Given the description of an element on the screen output the (x, y) to click on. 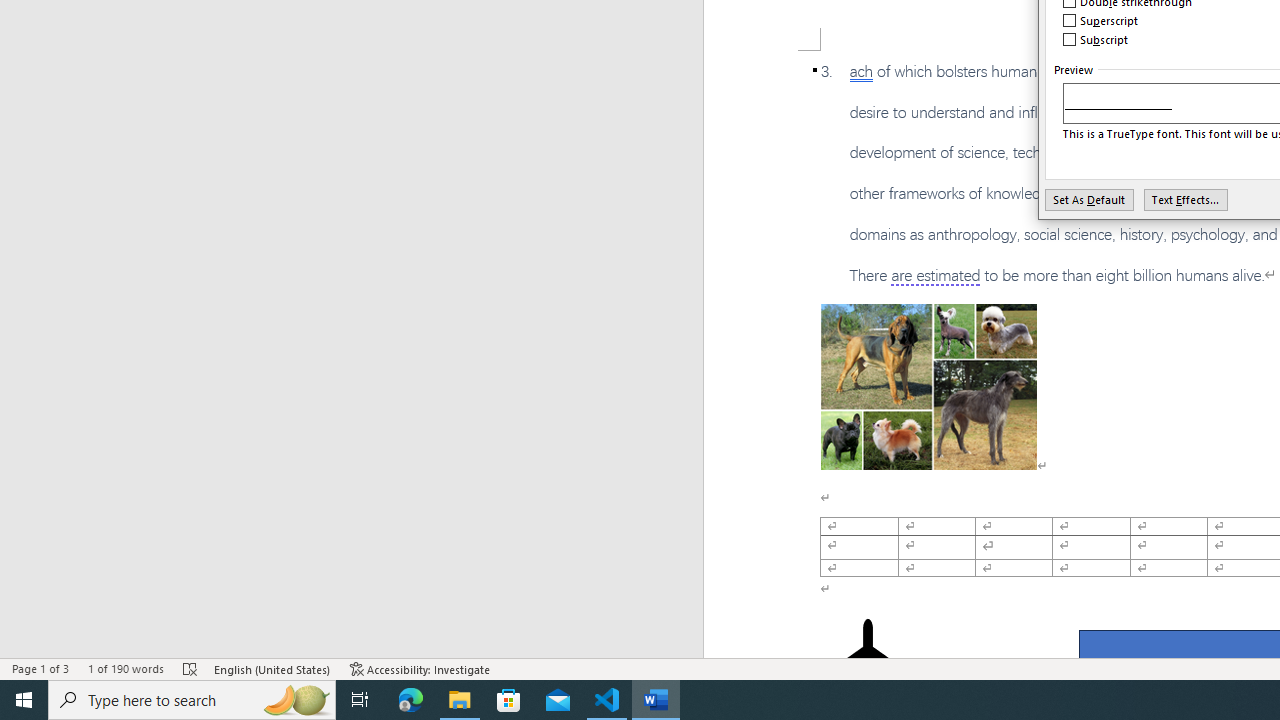
Language English (United States) (273, 668)
Airplane with solid fill (867, 657)
Morphological variation in six dogs (928, 386)
Spelling and Grammar Check Errors (191, 668)
Superscript (1101, 20)
Type here to search (191, 699)
